Given the description of an element on the screen output the (x, y) to click on. 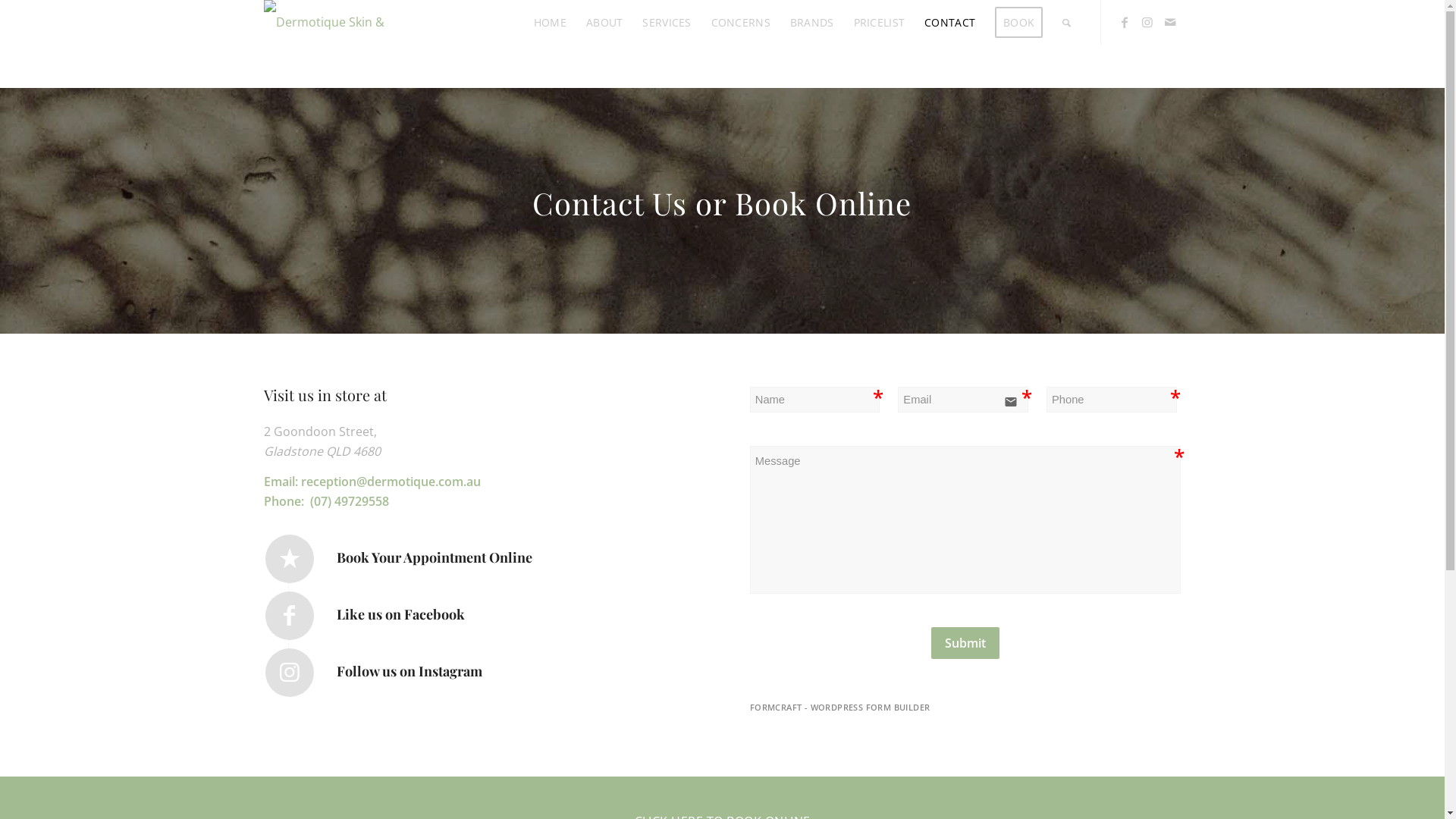
Facebook Element type: hover (1124, 21)
Instagram Element type: hover (1146, 21)
Follow us on Instagram Element type: hover (289, 672)
SERVICES Element type: text (666, 22)
ABOUT Element type: text (604, 22)
Mail Element type: hover (1169, 21)
CONTACT Element type: text (949, 22)
HOME Element type: text (550, 22)
Submit Element type: text (965, 642)
BRANDS Element type: text (812, 22)
Like us on Facebook Element type: hover (289, 615)
Follow us on Instagram Element type: text (409, 671)
BOOK Element type: text (1018, 22)
FORMCRAFT - WORDPRESS FORM BUILDER Element type: text (839, 707)
CONCERNS Element type: text (740, 22)
Like us on Facebook Element type: text (400, 614)
Book Your Appointment Online Element type: hover (289, 558)
Book Your Appointment Online Element type: text (434, 557)
PRICELIST Element type: text (879, 22)
